Given the description of an element on the screen output the (x, y) to click on. 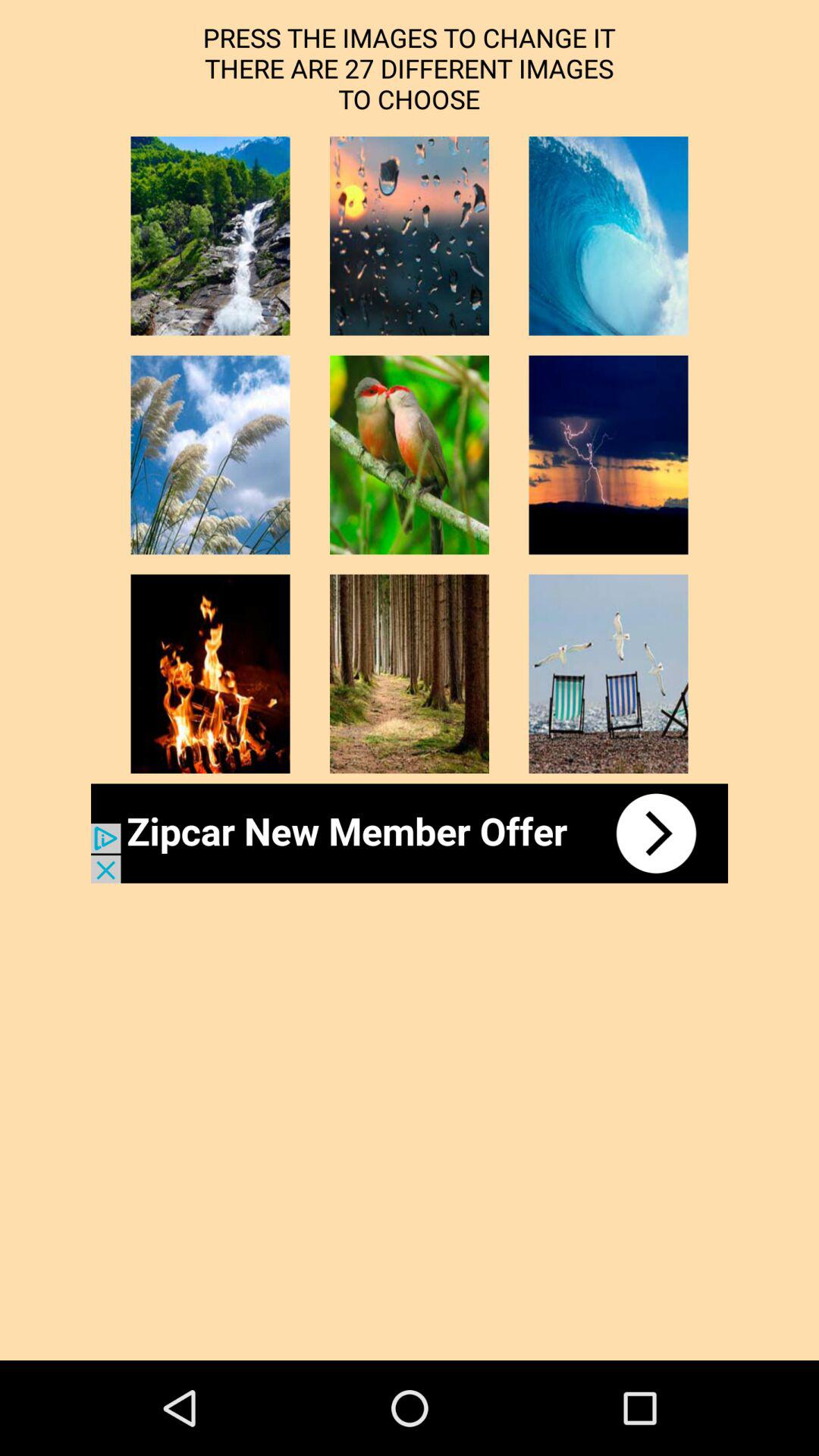
select this image (409, 454)
